Given the description of an element on the screen output the (x, y) to click on. 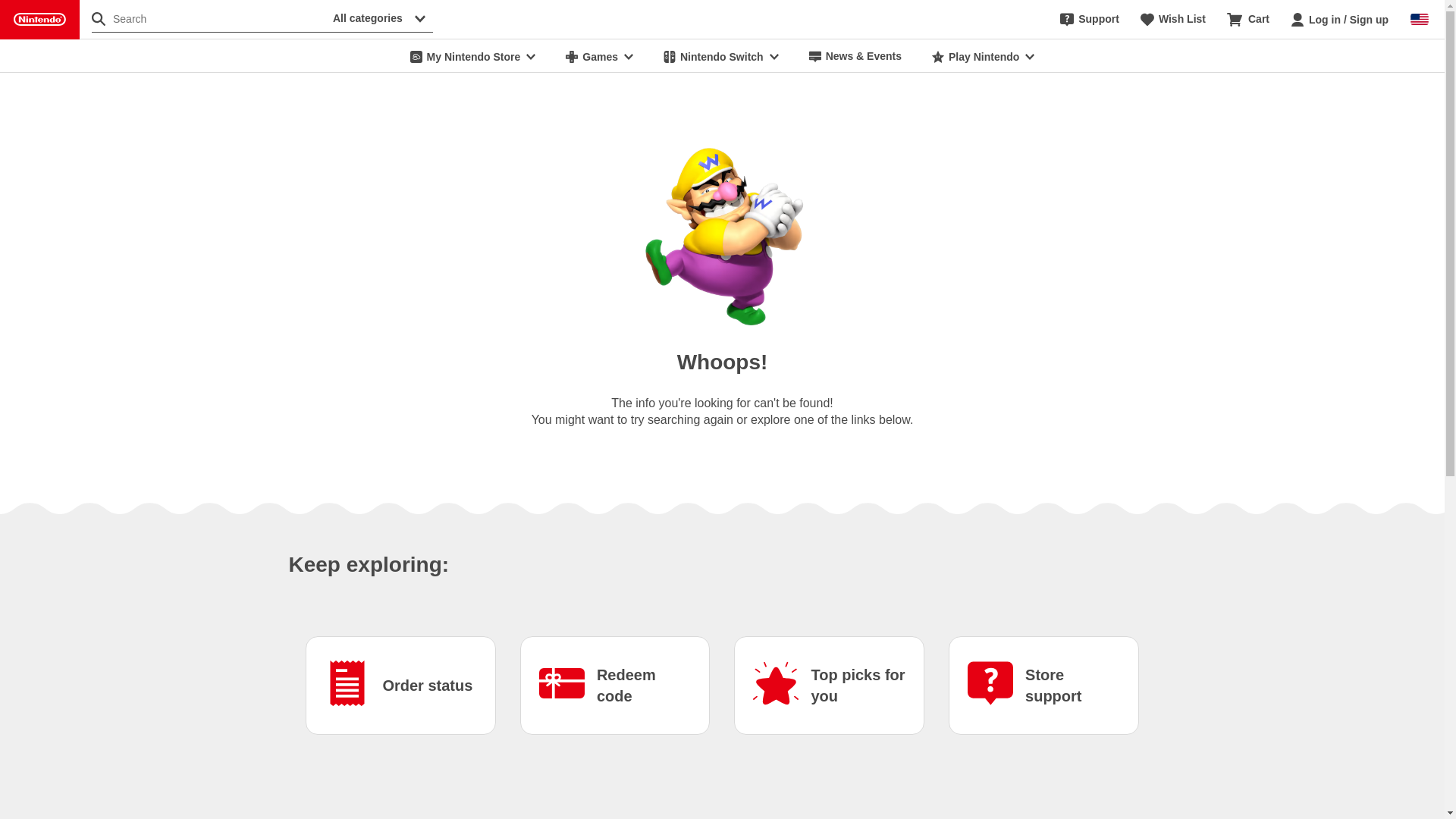
Nintendo Switch (720, 56)
Play Nintendo (983, 56)
Search (208, 18)
Nintendo (40, 19)
Cart (1248, 19)
Games (599, 56)
Support (1089, 19)
Wish List (1172, 19)
My Nintendo Store (472, 56)
